Given the description of an element on the screen output the (x, y) to click on. 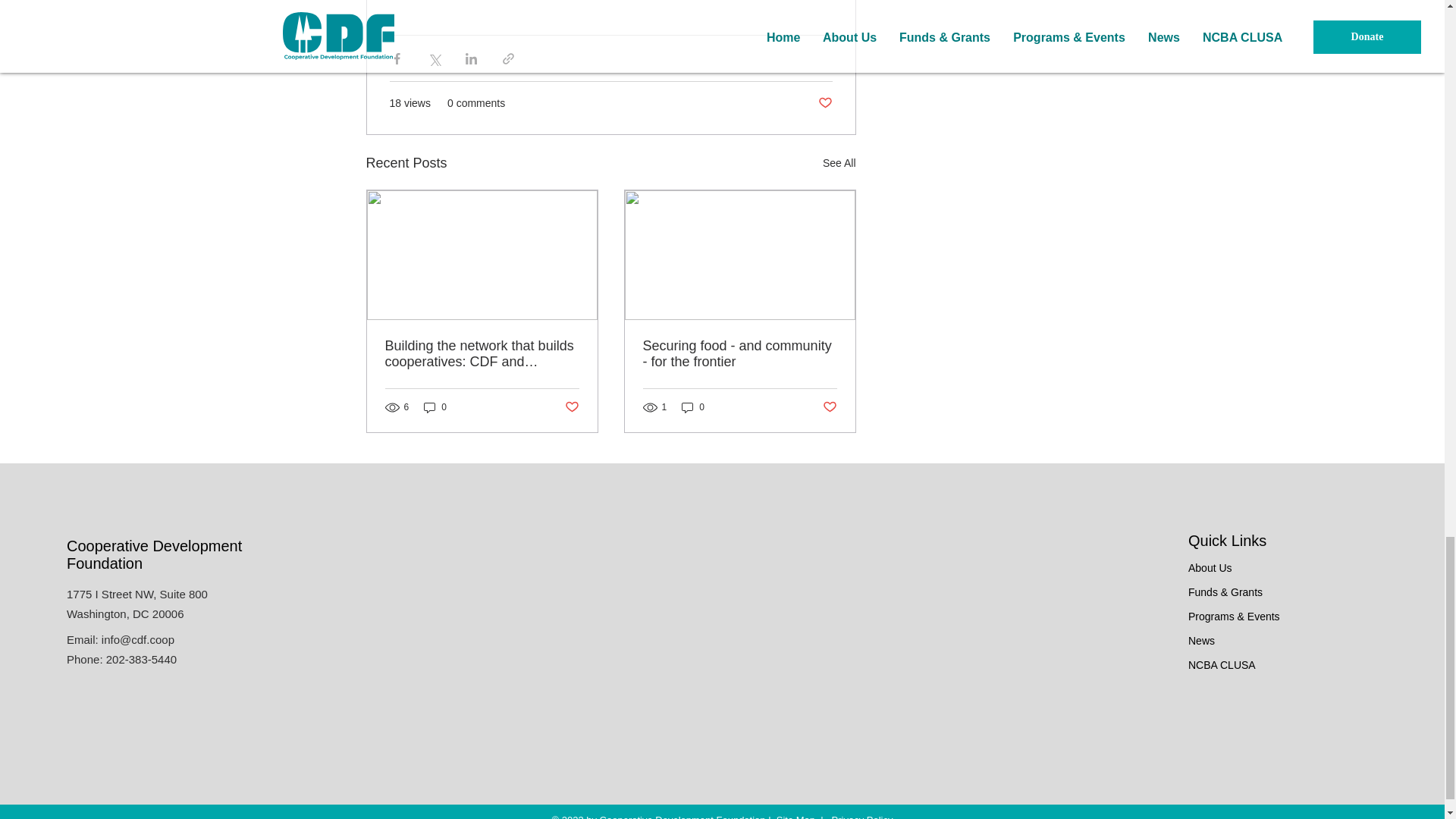
Post not marked as liked (571, 406)
Post not marked as liked (823, 103)
See All (839, 163)
0 (435, 407)
